Given the description of an element on the screen output the (x, y) to click on. 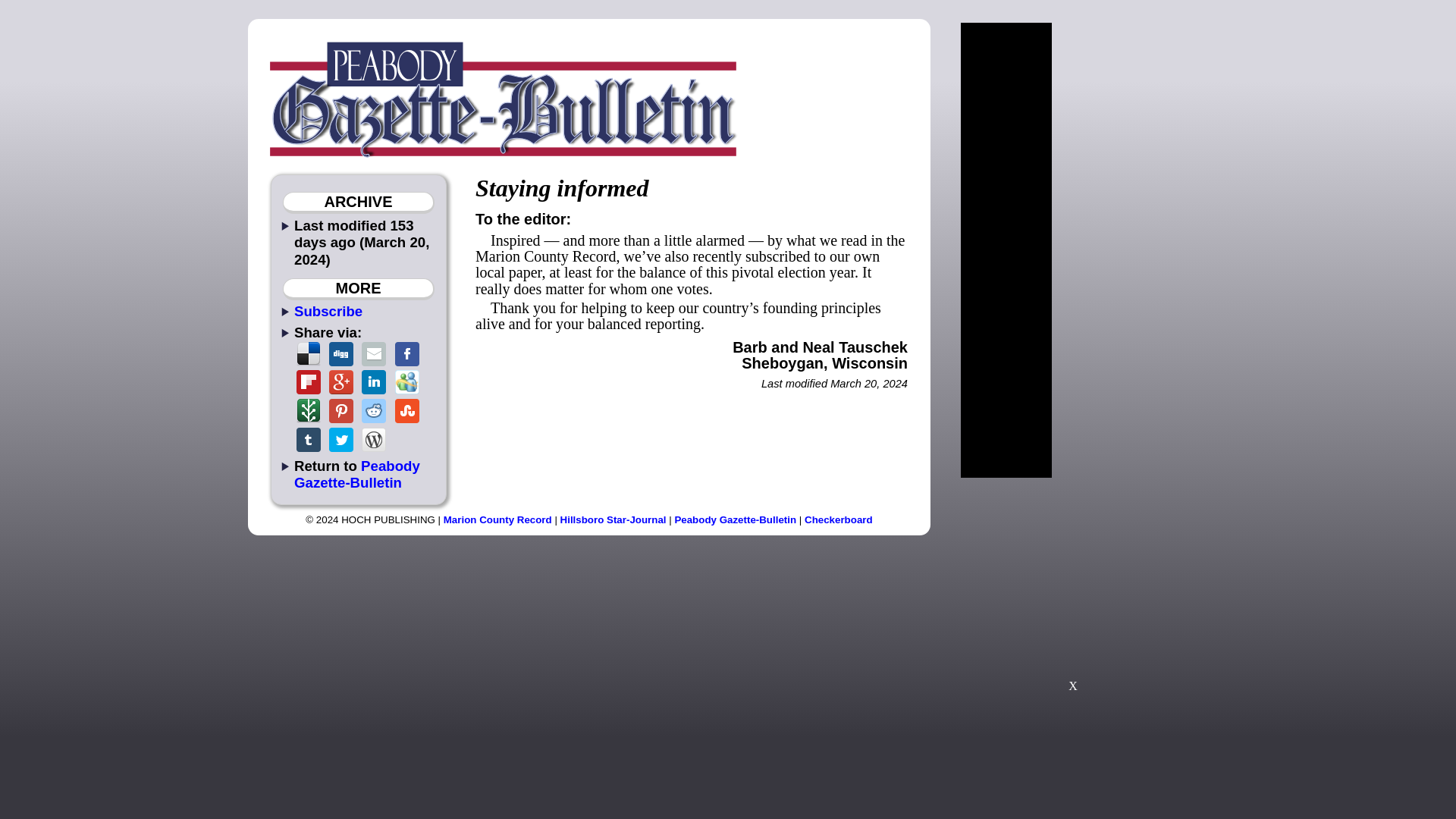
Advertisement (1072, 591)
Checkerboard (838, 519)
Peabody Gazette-Bulletin (735, 519)
Peabody Gazette-Bulletin (357, 473)
Marion County Record (497, 519)
Hillsboro Star-Journal (613, 519)
Subscribe (328, 311)
